Given the description of an element on the screen output the (x, y) to click on. 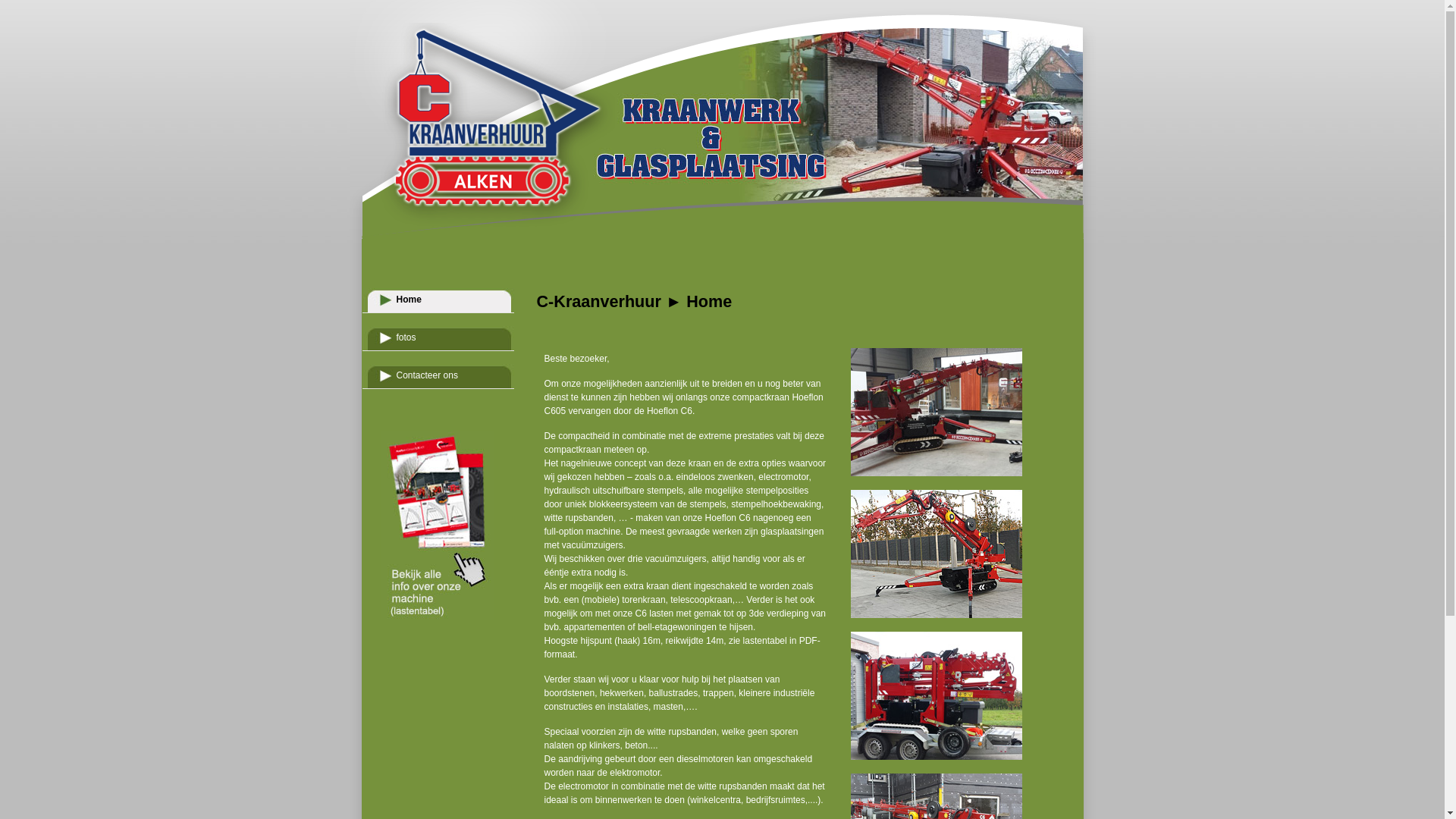
Home Element type: text (438, 300)
fotos Element type: text (438, 338)
Contacteer ons Element type: text (438, 376)
home Element type: hover (481, 284)
